Given the description of an element on the screen output the (x, y) to click on. 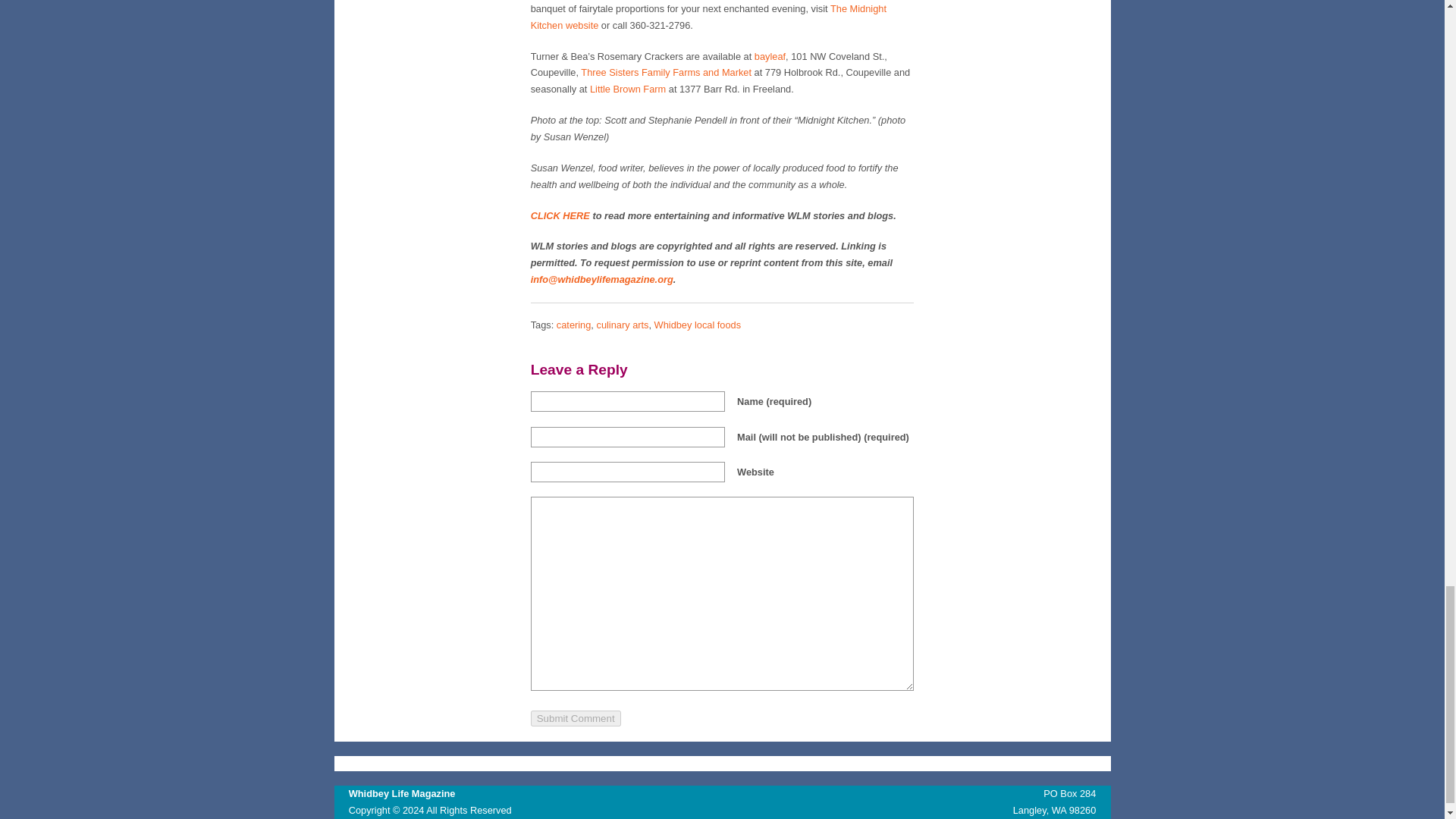
Submit Comment (576, 718)
